Given the description of an element on the screen output the (x, y) to click on. 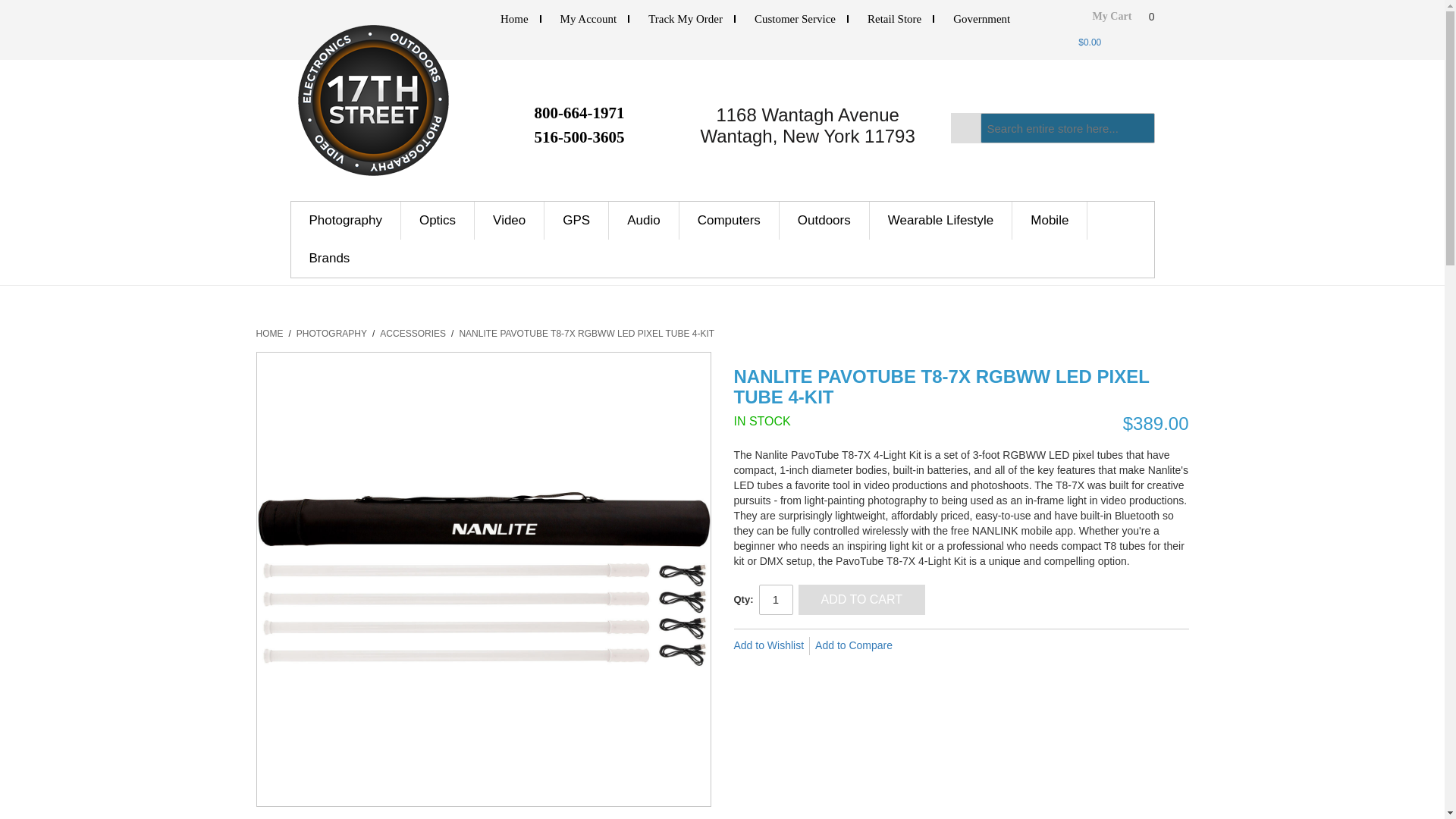
Go to Home Page (269, 333)
Retail Store (894, 19)
My Account (588, 19)
Home (514, 19)
Customer Service (794, 19)
GPS (576, 220)
Government (981, 19)
Search (965, 128)
Qty (775, 599)
Photography (346, 220)
